Given the description of an element on the screen output the (x, y) to click on. 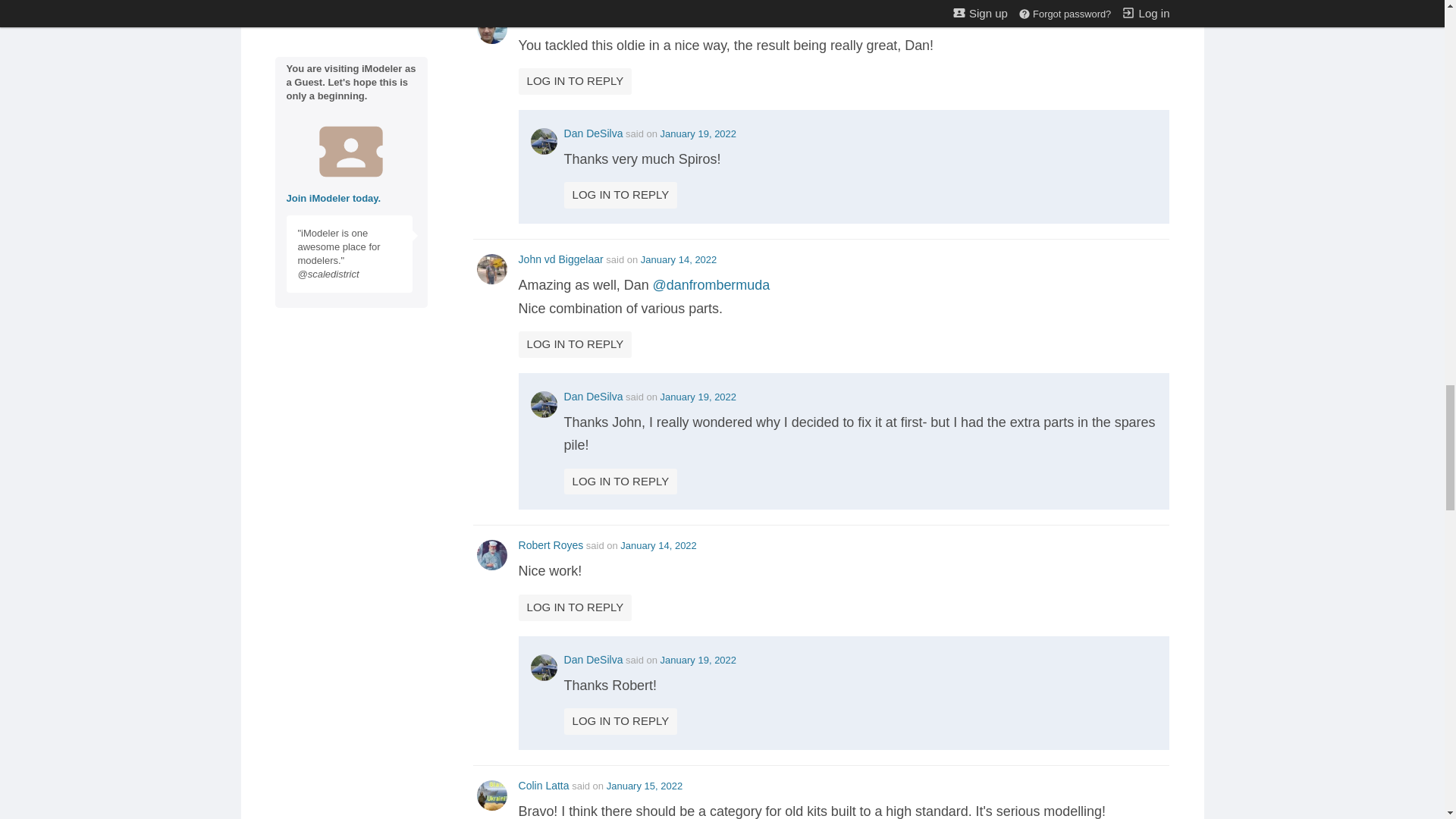
LOG IN TO REPLY (621, 194)
January 14, 2022 (685, 19)
January 14, 2022 (678, 259)
John vd Biggelaar (561, 259)
Spiros Pendedekas (564, 19)
January 19, 2022 (698, 133)
Dan DeSilva (593, 133)
LOG IN TO REPLY (574, 81)
